Given the description of an element on the screen output the (x, y) to click on. 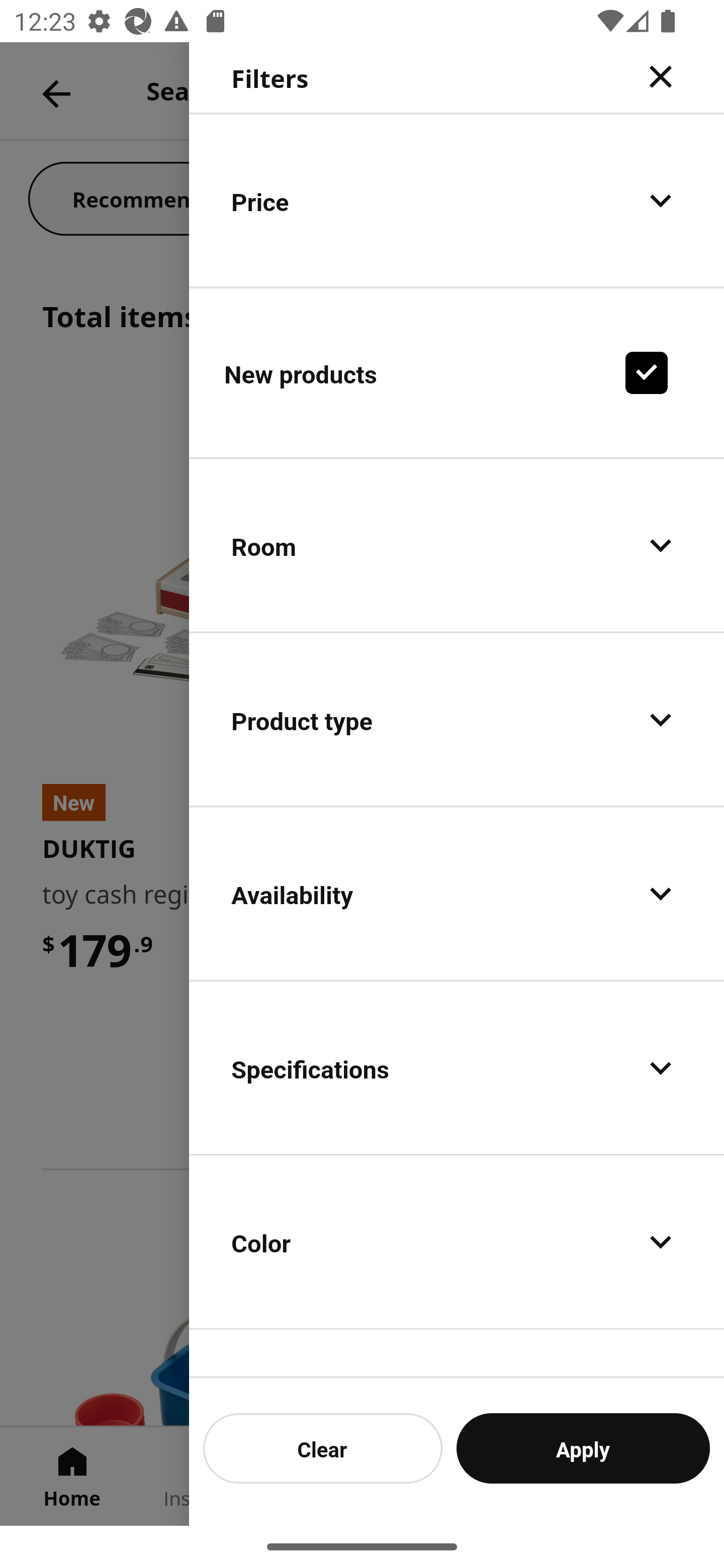
Price (456, 200)
New products (456, 371)
Room (456, 545)
Product type (456, 719)
Availability (456, 893)
Specifications (456, 1067)
Color (456, 1241)
Clear (322, 1447)
Apply (583, 1447)
